Given the description of an element on the screen output the (x, y) to click on. 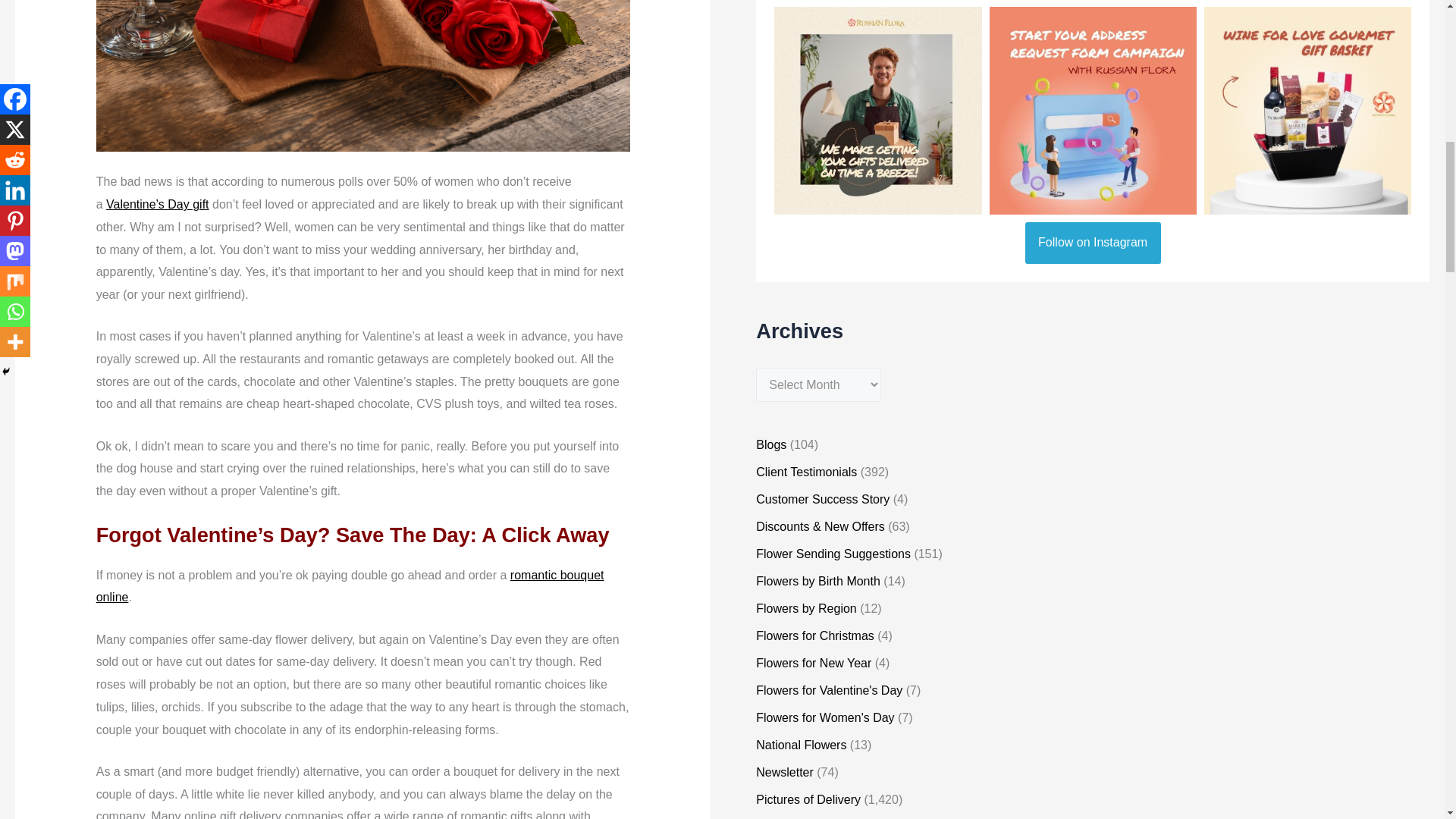
romantic bouquet online (350, 586)
Send Valentines Day Flowers and Gifts to Russia (157, 204)
